Given the description of an element on the screen output the (x, y) to click on. 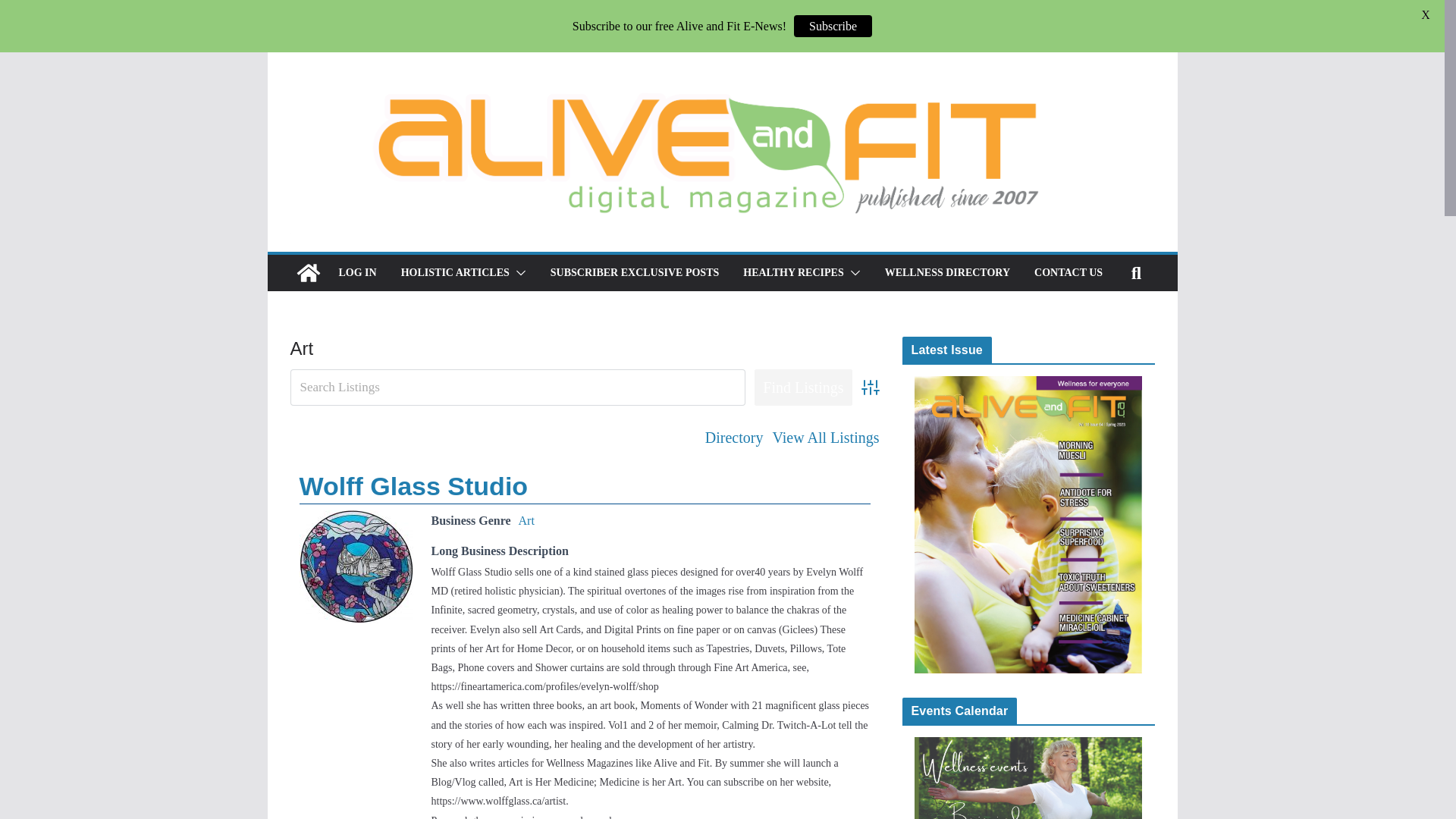
HOLISTIC ARTICLES (455, 272)
Wolff Glass Studio (412, 485)
SUBSCRIBER EXCLUSIVE POSTS (634, 272)
Directory (733, 437)
Quick search keywords (517, 387)
HEALTHY RECIPES (792, 272)
LOG IN (356, 272)
Art (526, 520)
The Buddhist Temple (355, 565)
Find Listings (802, 387)
Advanced Search (870, 387)
Find Listings (802, 387)
View All Listings (825, 437)
CONTACT US (1067, 272)
